Given the description of an element on the screen output the (x, y) to click on. 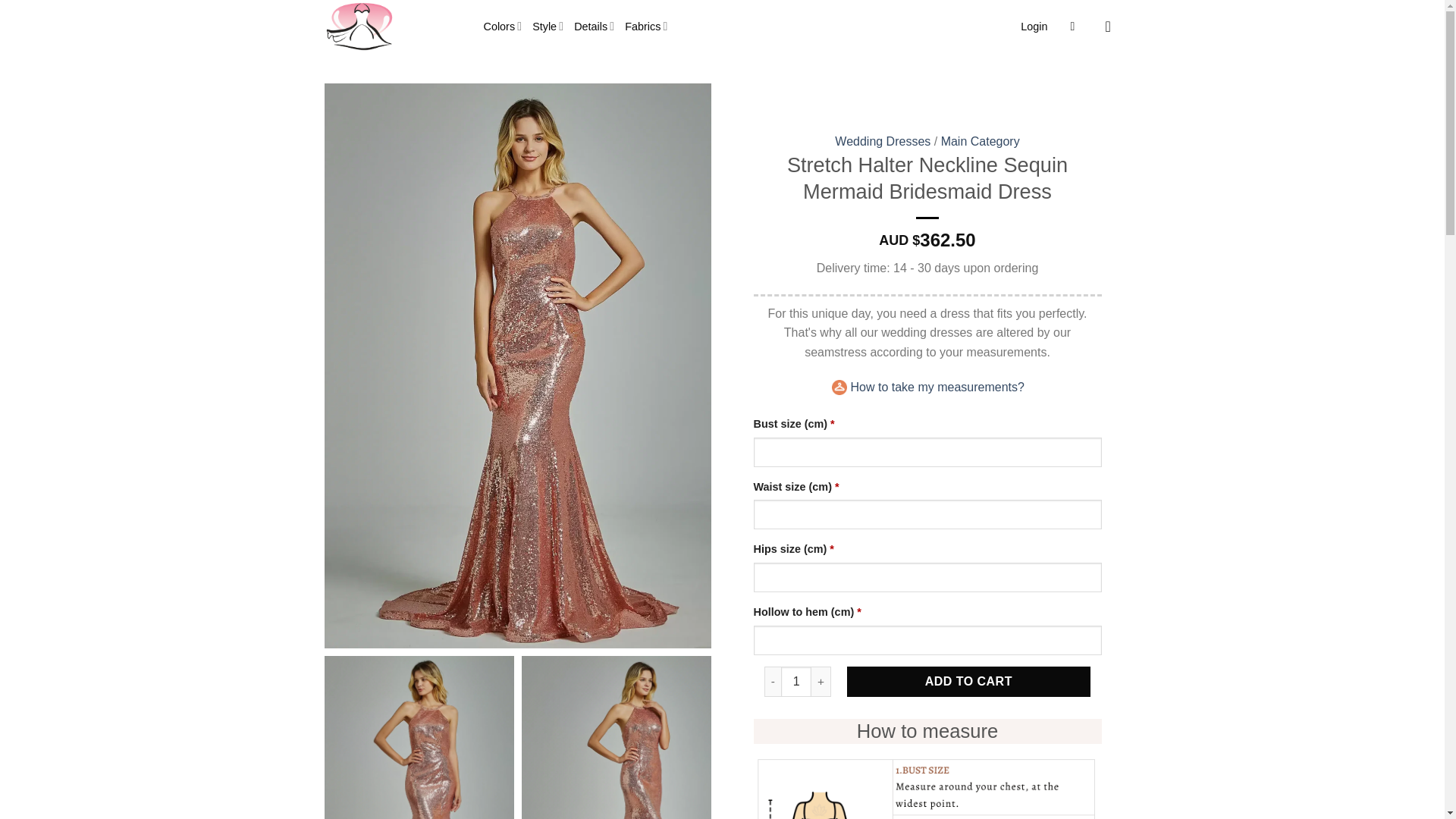
Style (547, 25)
1 (795, 681)
Colors (502, 25)
Details (593, 25)
Qty (795, 681)
Bridal Australia (392, 26)
